Given the description of an element on the screen output the (x, y) to click on. 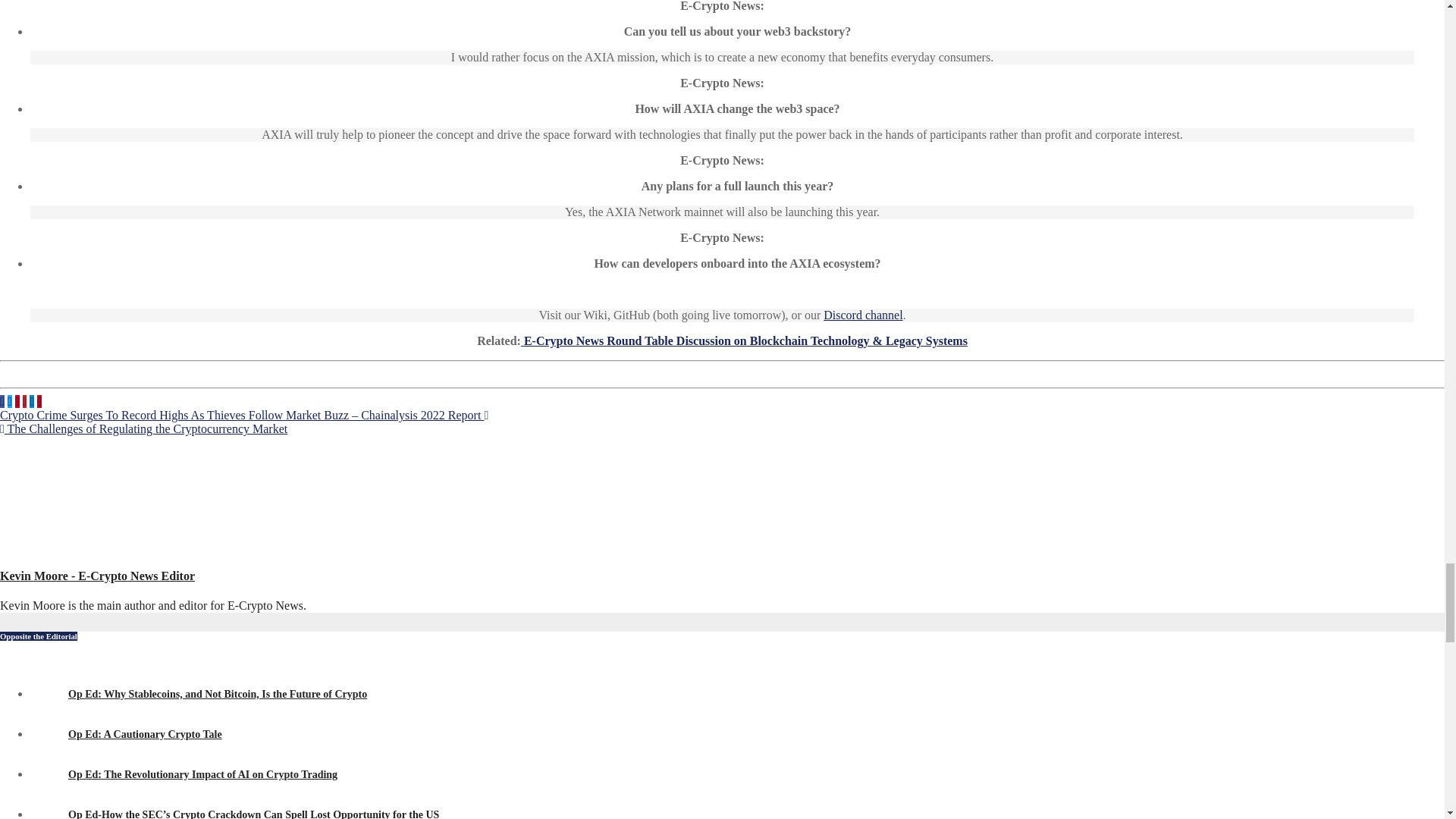
Discord channel (863, 314)
